Given the description of an element on the screen output the (x, y) to click on. 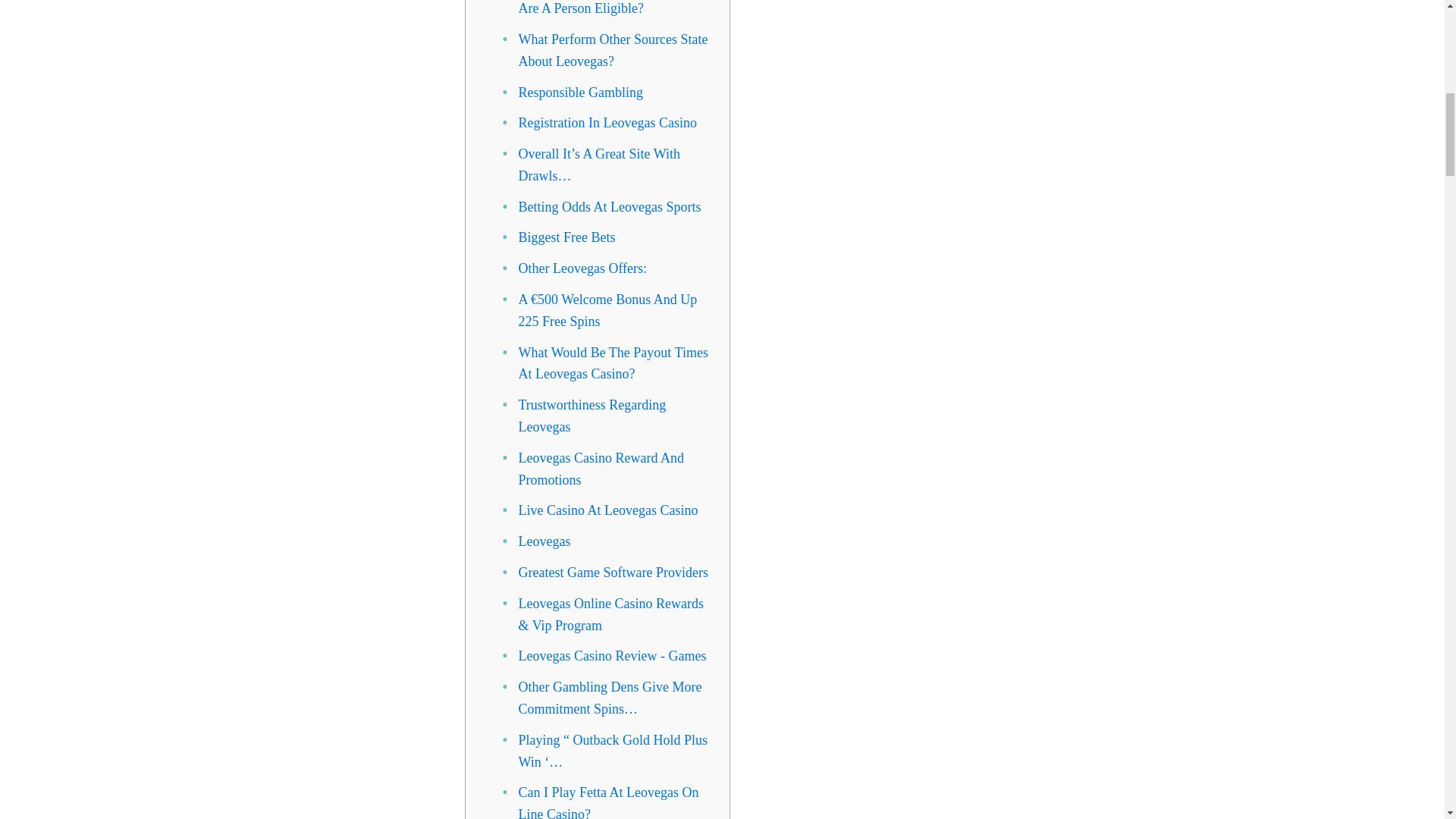
Trustworthiness Regarding Leovegas (592, 415)
Greatest Game Software Providers (612, 572)
Live Casino At Leovegas Casino (608, 509)
Betting Odds At Leovegas Sports (609, 206)
What Would Be The Payout Times At Leovegas Casino? (612, 363)
Leovegas Casino Reward And Promotions (601, 468)
Leovegas Casino Review - Games (612, 655)
Biggest Free Bets (566, 237)
Registration In Leovegas Casino (607, 122)
Responsible Gambling (580, 92)
